Given the description of an element on the screen output the (x, y) to click on. 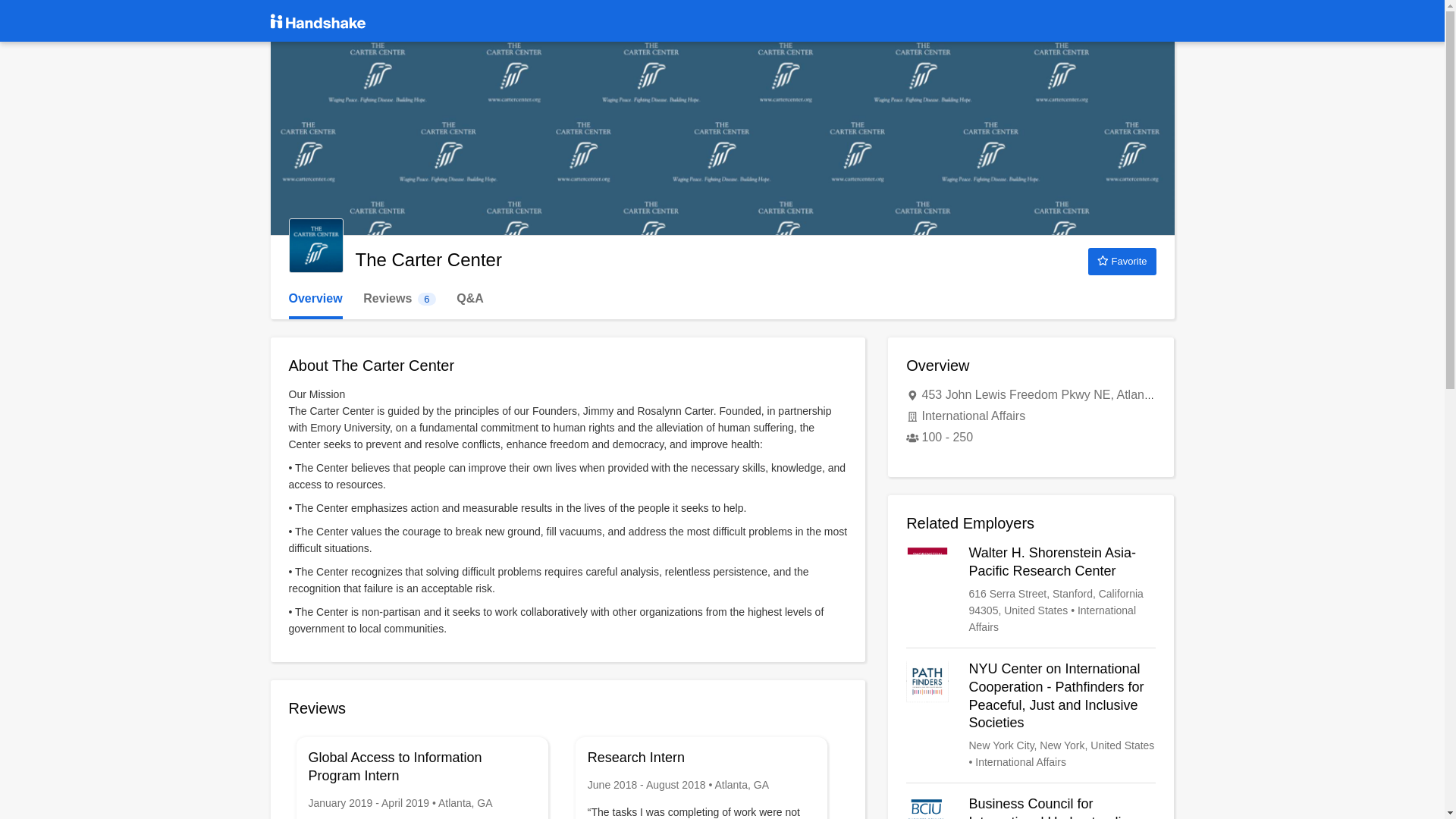
Walter H. Shorenstein Asia-Pacific Research Center (398, 298)
Overview (1030, 589)
The Carter Center (315, 298)
Favorite (315, 245)
